Given the description of an element on the screen output the (x, y) to click on. 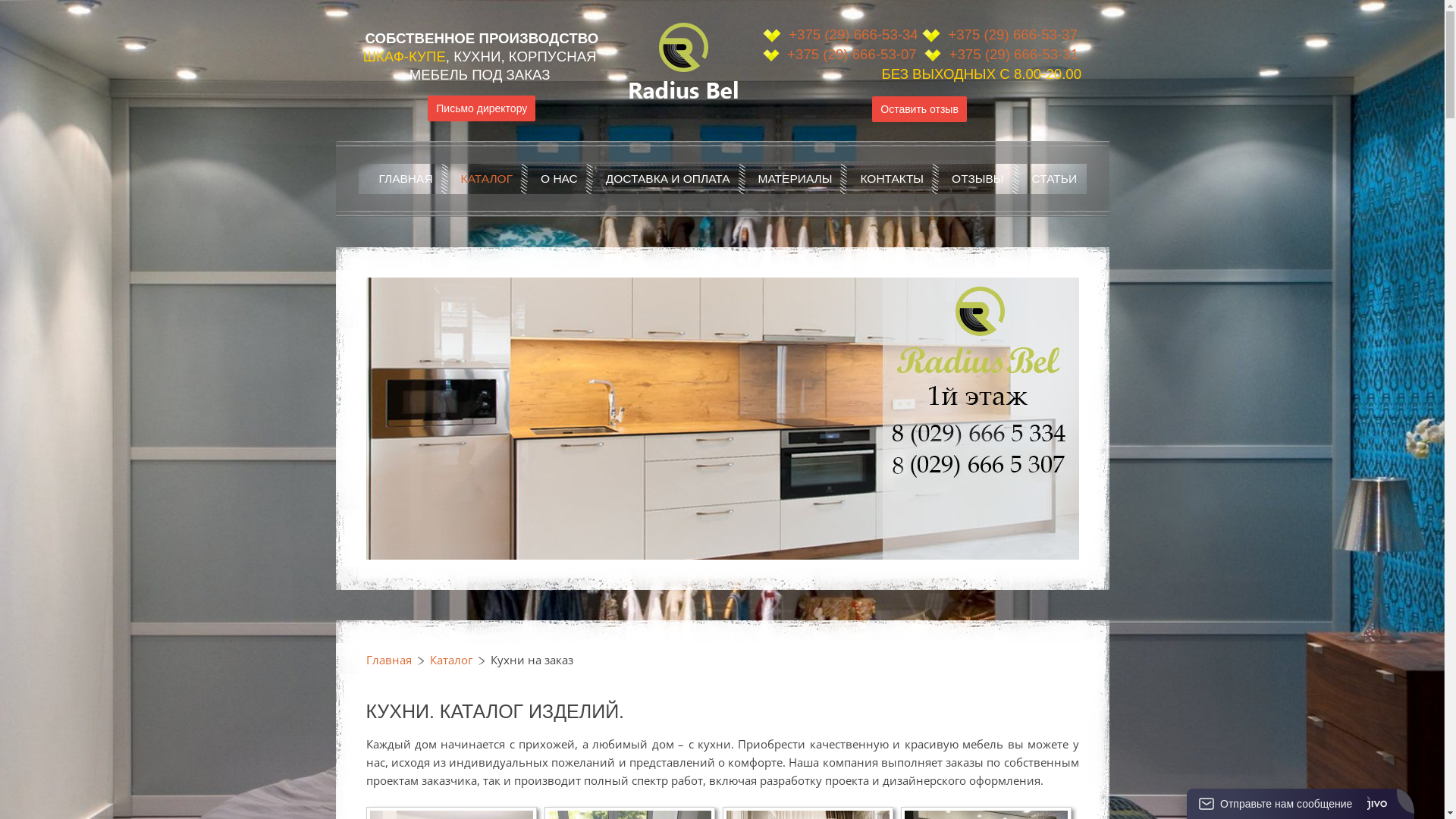
+375 (29) 666-53-34 Element type: text (853, 34)
 +375 (29) 666-53-31 Element type: text (1011, 54)
+375 (29) 666-53-07 Element type: text (849, 54)
+375 (29) 666-53-37 Element type: text (1012, 34)
